Given the description of an element on the screen output the (x, y) to click on. 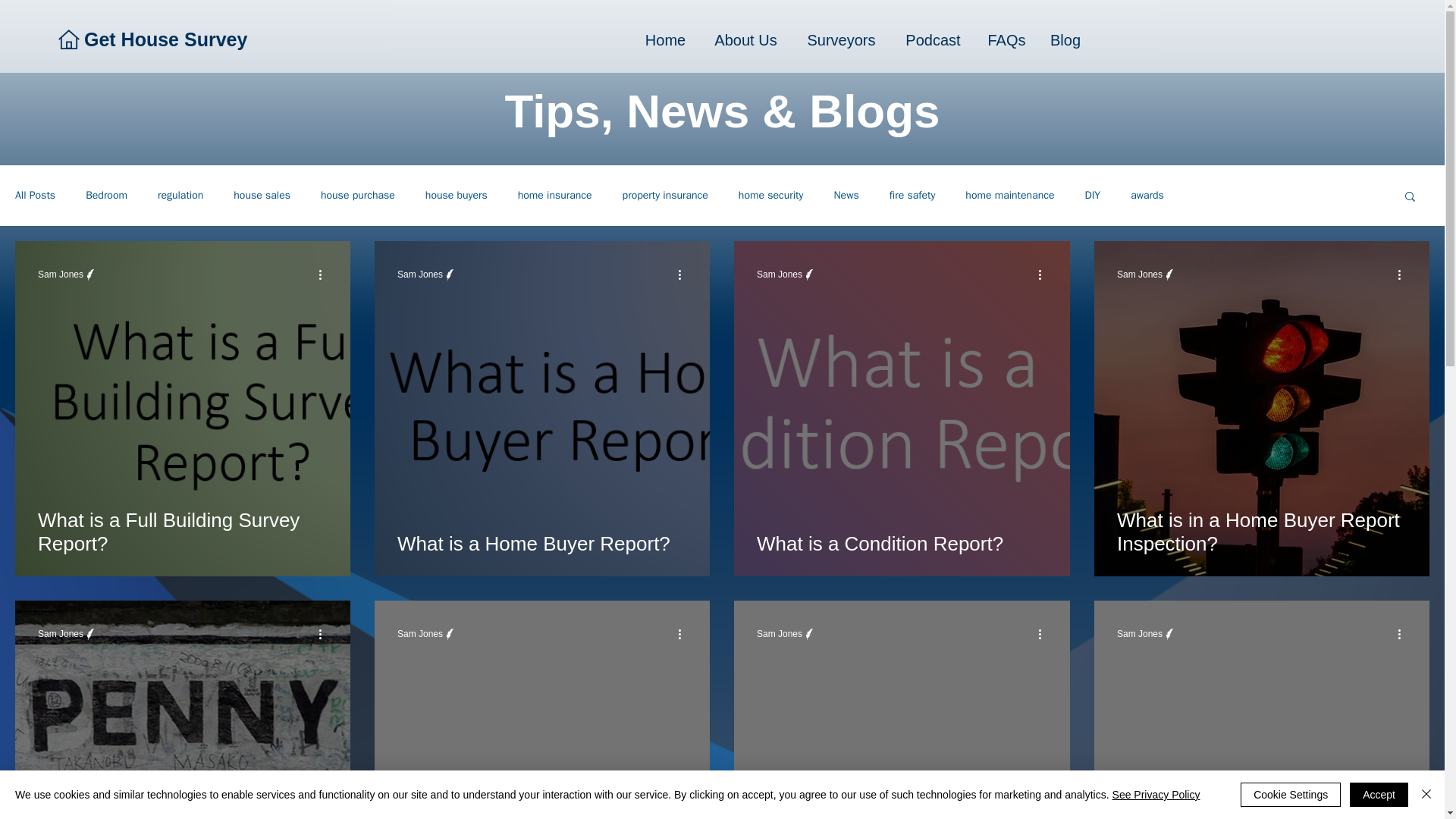
house sales (260, 195)
Sam Jones (1138, 633)
Sam Jones (1138, 274)
house purchase (357, 195)
Podcast (932, 40)
Home (664, 40)
All Posts (34, 195)
Blog (1064, 40)
Sam Jones (779, 633)
Sam Jones (419, 274)
News (845, 195)
What is in a Home Buyer Report Inspection? (1261, 531)
home insurance (555, 195)
fire safety (912, 195)
regulation (180, 195)
